Given the description of an element on the screen output the (x, y) to click on. 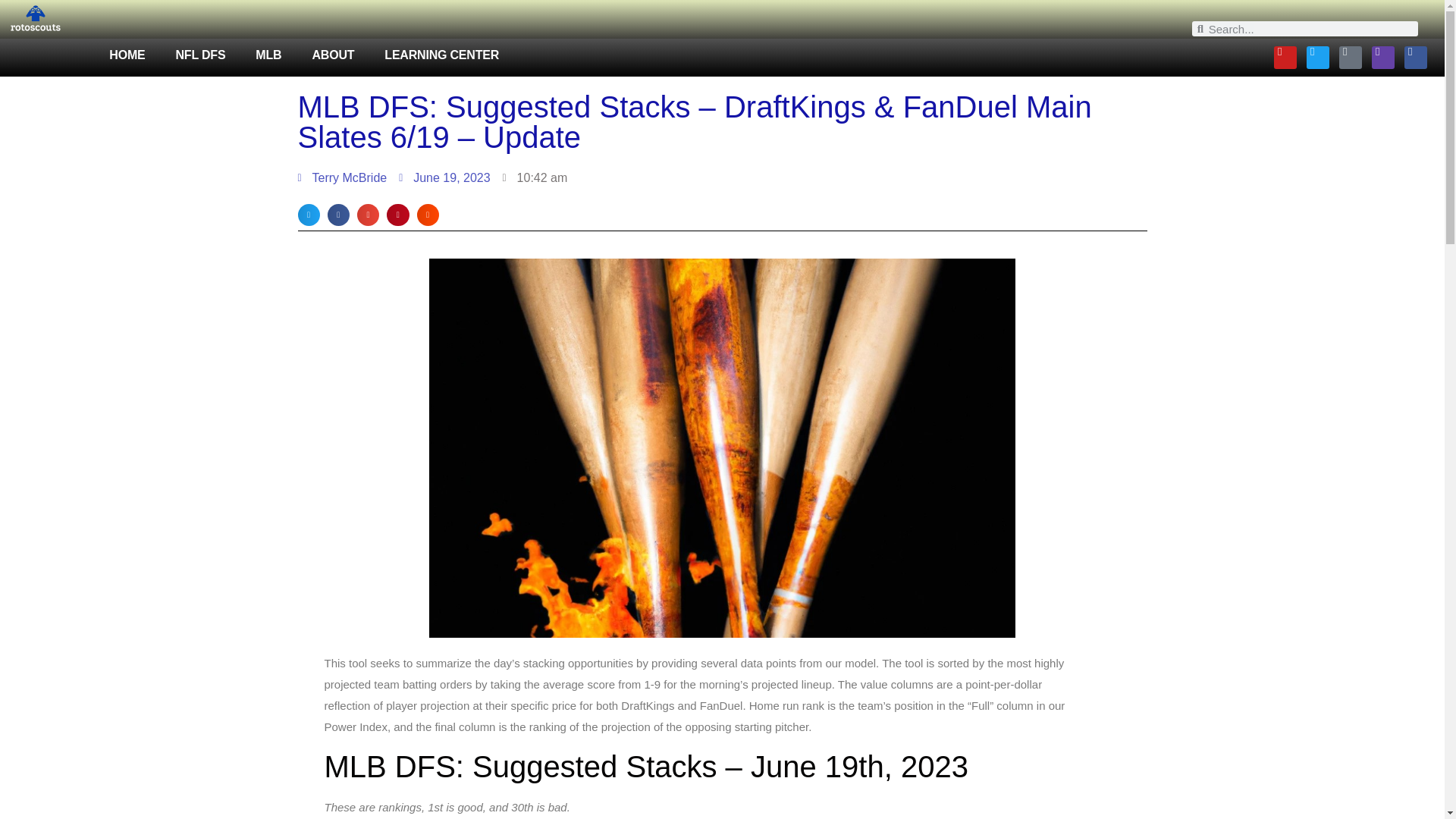
HOME (127, 54)
June 19, 2023 (443, 178)
ABOUT (333, 54)
LEARNING CENTER (441, 54)
Search (1310, 28)
NFL DFS (200, 54)
Terry McBride (342, 178)
MLB (268, 54)
